Given the description of an element on the screen output the (x, y) to click on. 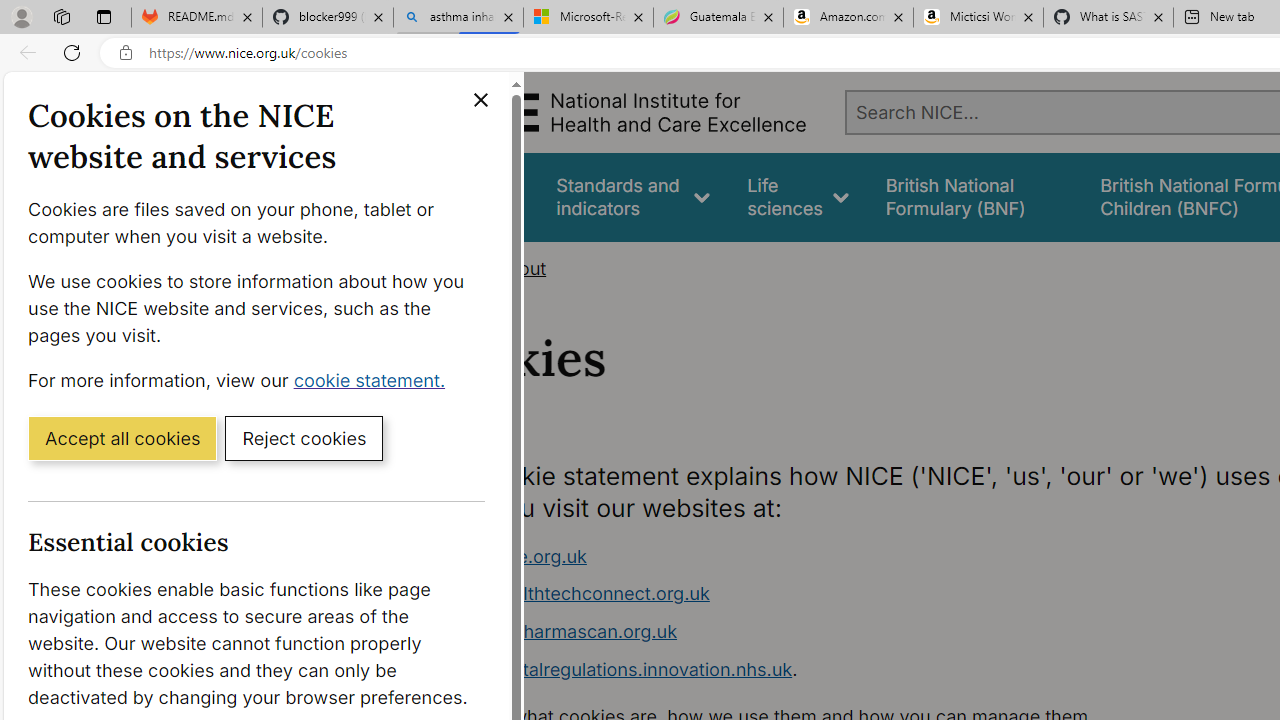
asthma inhaler - Search (458, 17)
Home> (456, 268)
www.ukpharmascan.org.uk (818, 632)
cookie statement. (Opens in a new window) (373, 379)
www.healthtechconnect.org.uk (576, 593)
Close cookie banner (480, 99)
www.nice.org.uk (818, 556)
